Given the description of an element on the screen output the (x, y) to click on. 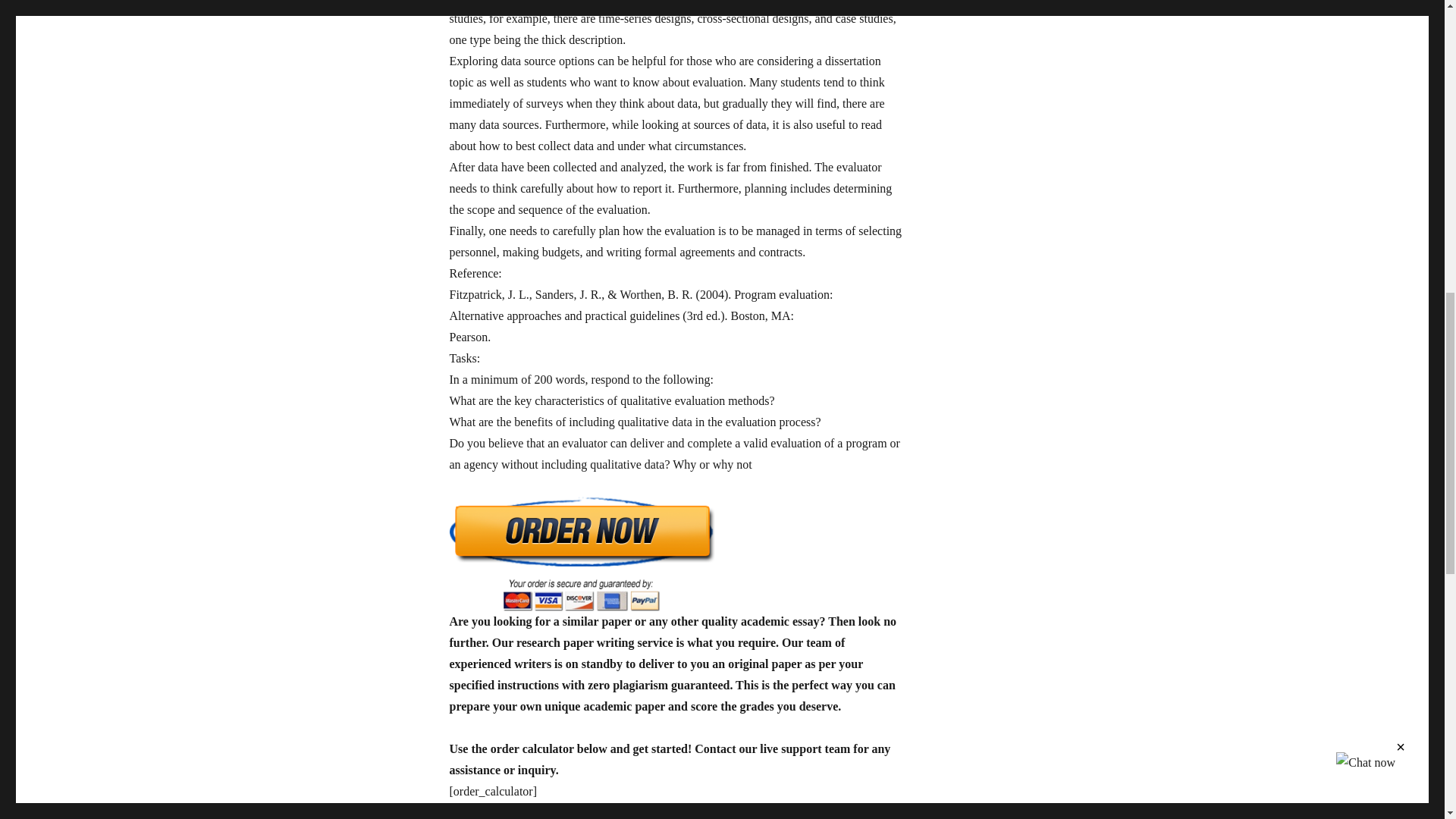
Click to Order (676, 553)
